Given the description of an element on the screen output the (x, y) to click on. 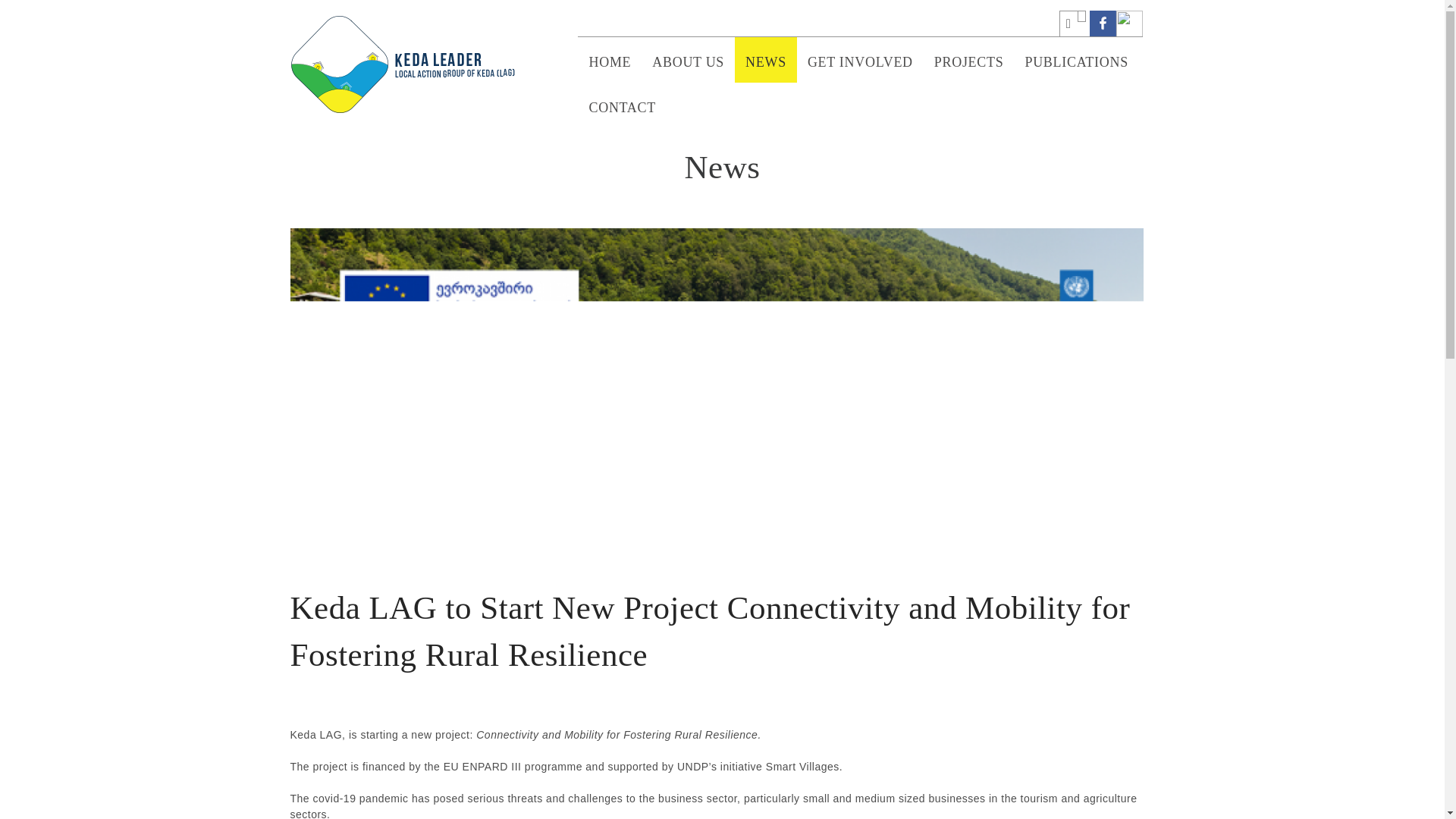
PROJECTS (968, 59)
News (722, 167)
NEWS (765, 59)
ABOUT US (688, 59)
PUBLICATIONS (1075, 59)
CONTACT (621, 104)
HOME (610, 59)
GET INVOLVED (859, 59)
